Given the description of an element on the screen output the (x, y) to click on. 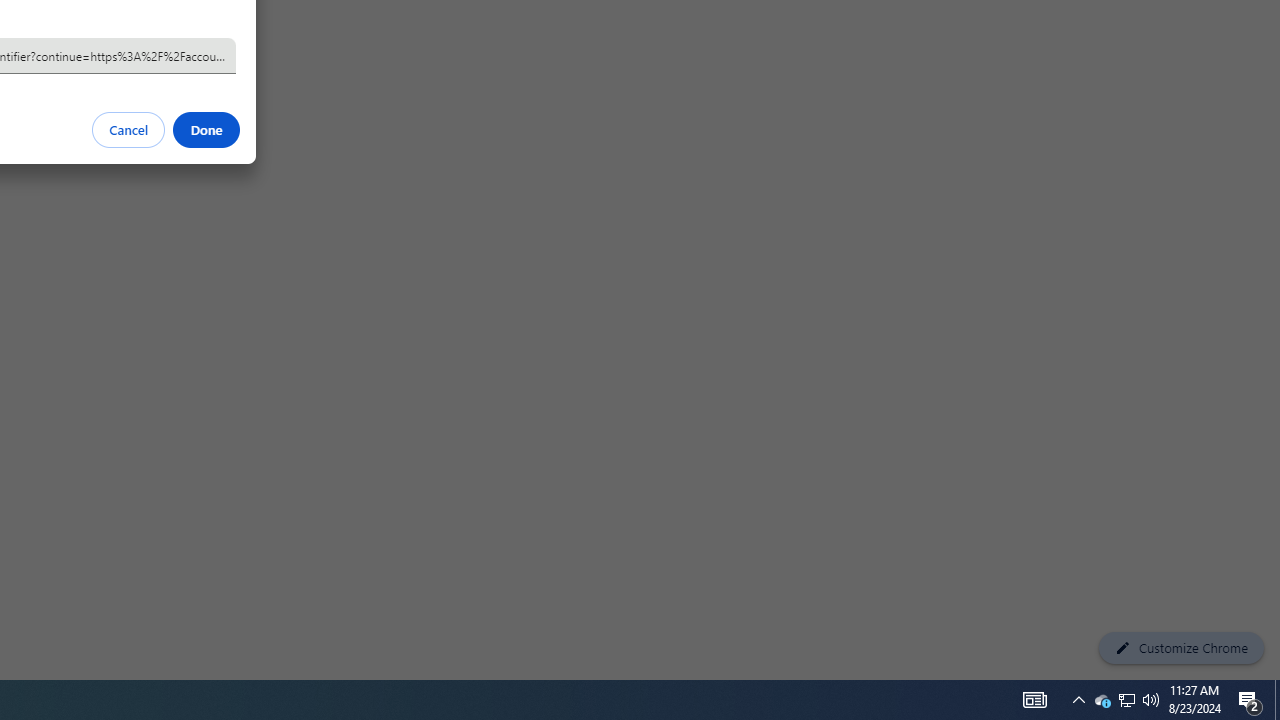
Done (206, 130)
Cancel (129, 130)
